Given the description of an element on the screen output the (x, y) to click on. 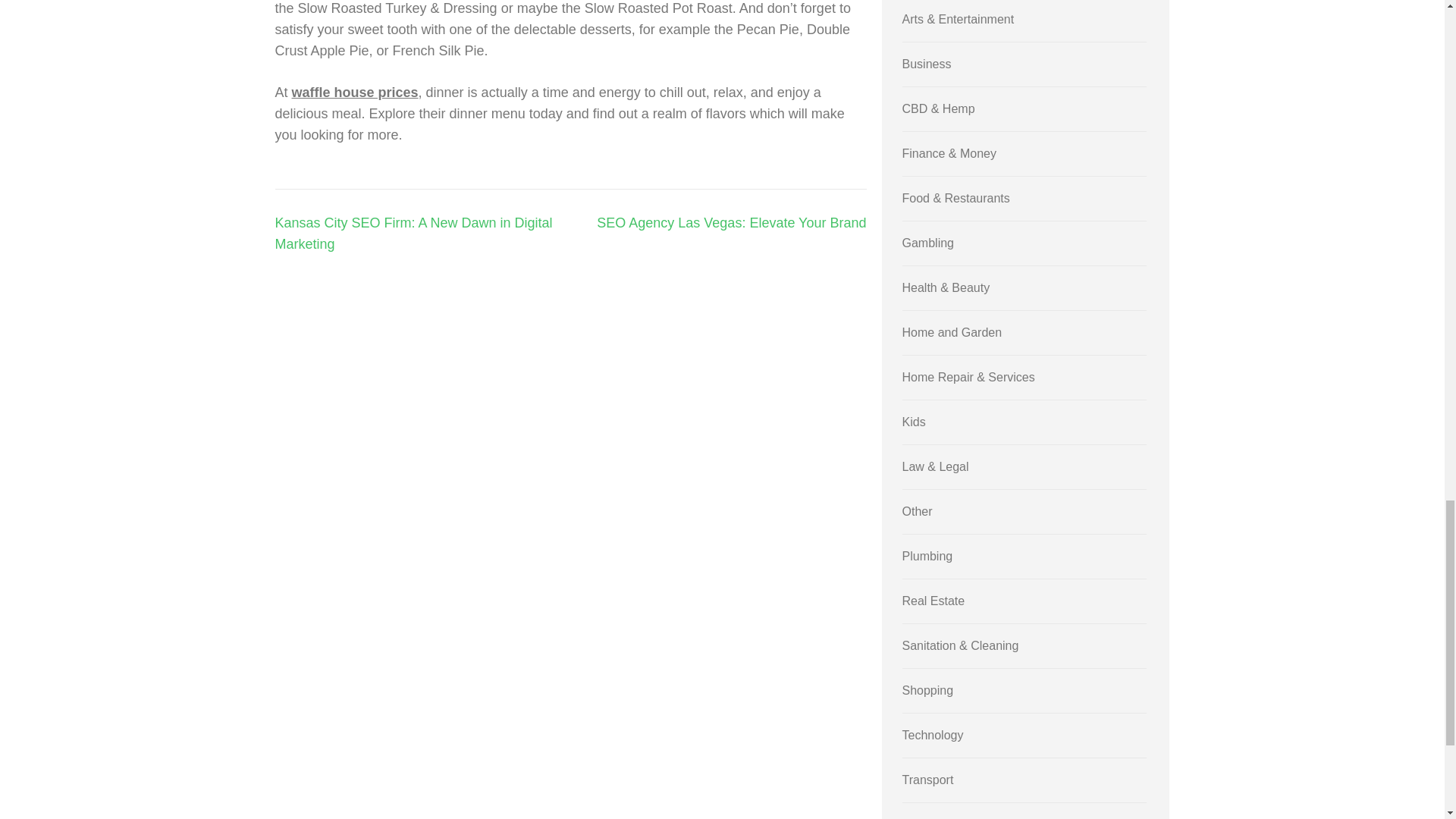
waffle house prices (355, 92)
Kansas City SEO Firm: A New Dawn in Digital Marketing (413, 233)
SEO Agency Las Vegas: Elevate Your Brand (731, 222)
